Given the description of an element on the screen output the (x, y) to click on. 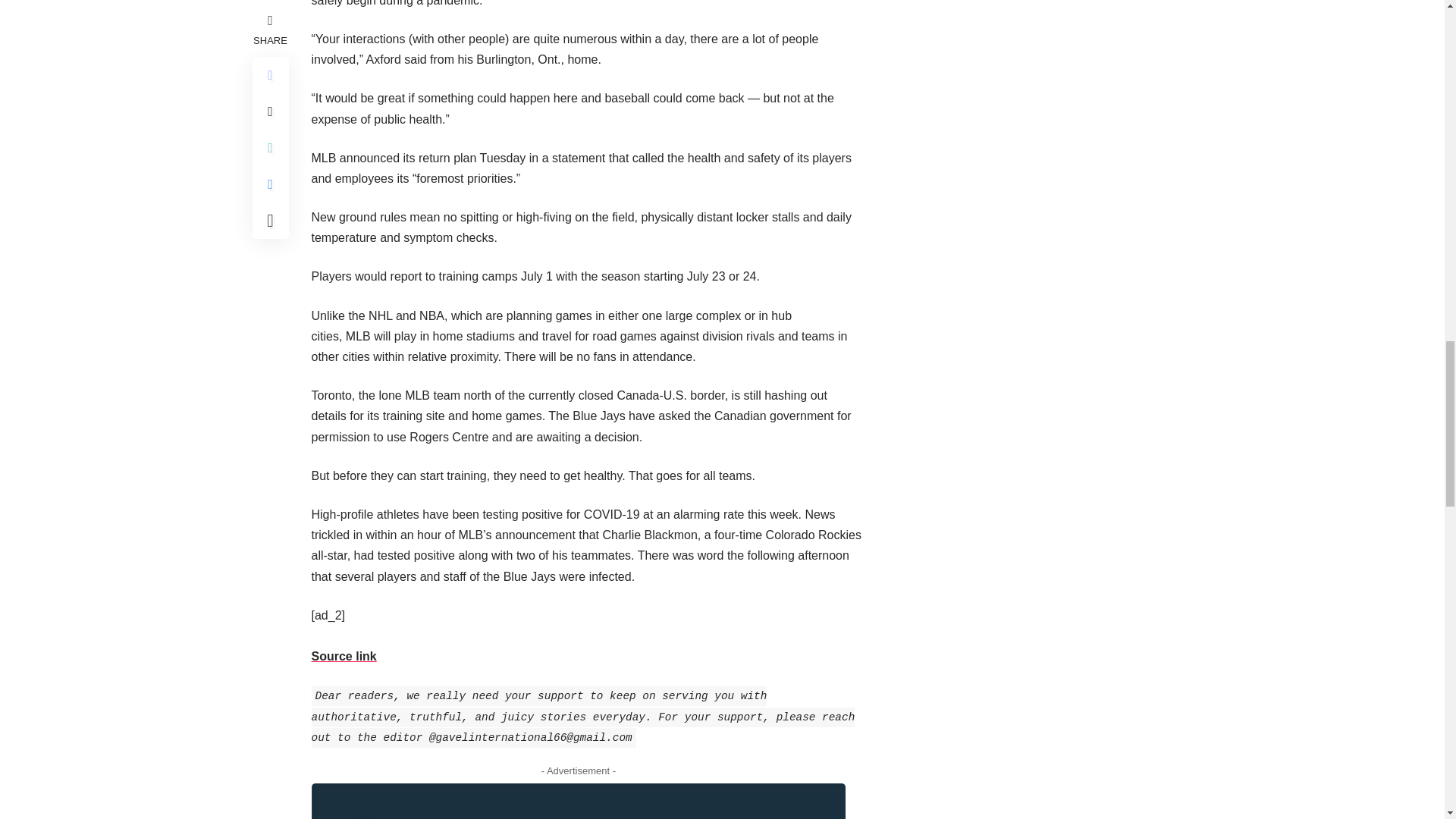
Source link (343, 656)
